Given the description of an element on the screen output the (x, y) to click on. 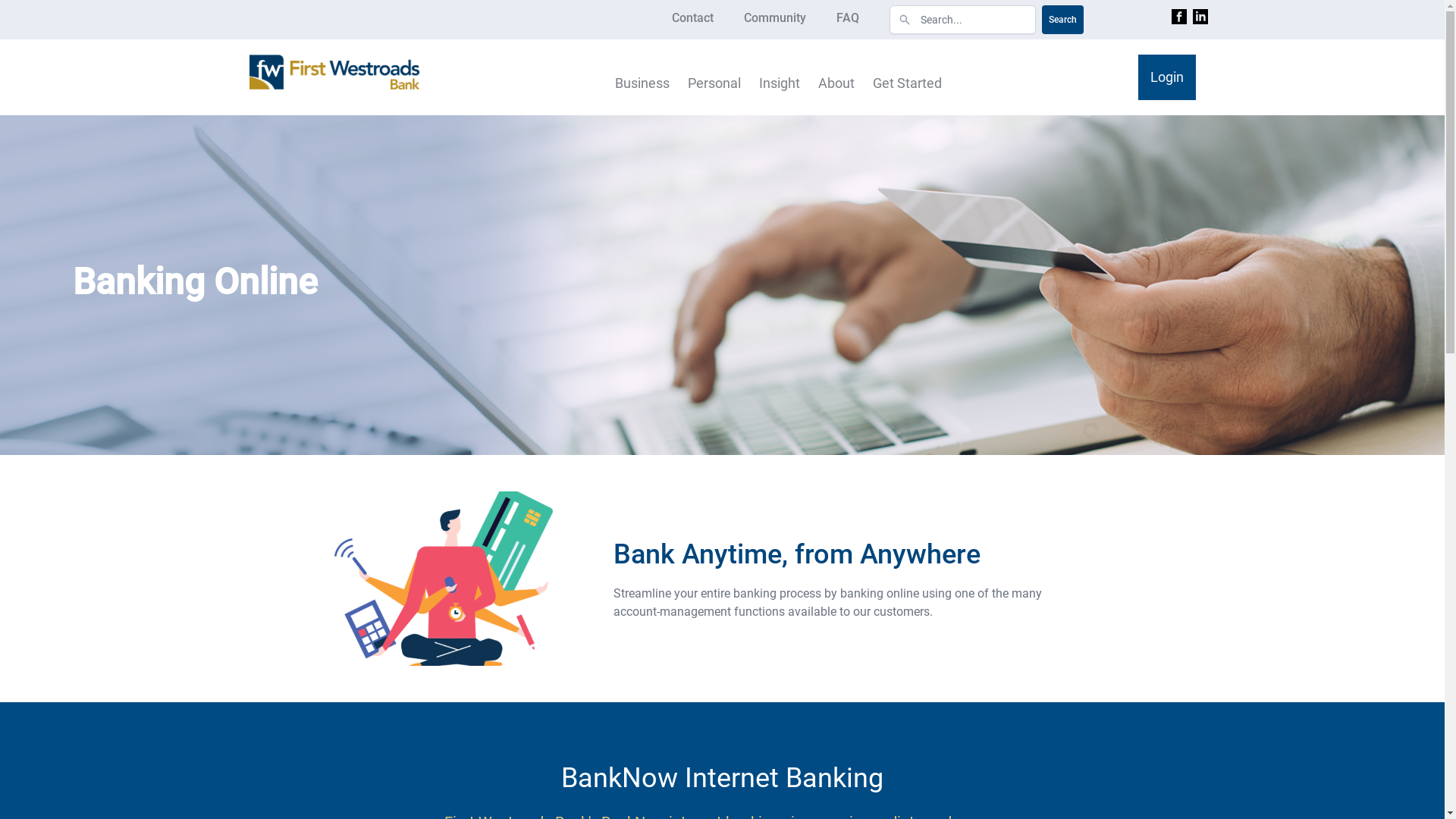
Contact Element type: text (692, 19)
Search Element type: text (1062, 19)
Personal Element type: text (713, 77)
About Element type: text (836, 77)
FAQ Element type: text (846, 19)
Business Element type: text (641, 77)
Insight Element type: text (779, 77)
Login Element type: text (1166, 77)
Community Element type: text (774, 19)
Get Started Element type: text (906, 77)
